Given the description of an element on the screen output the (x, y) to click on. 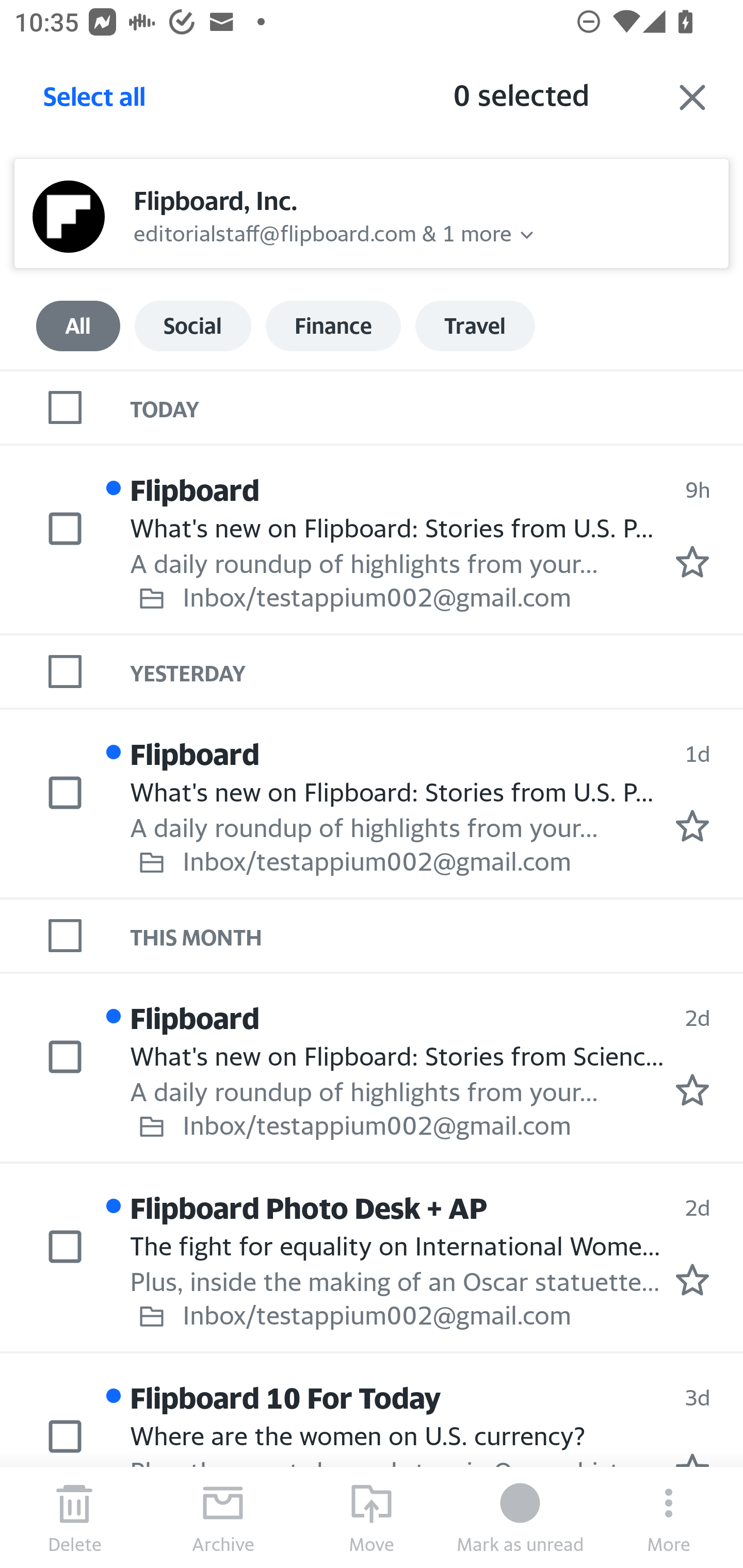
Exit selection mode (692, 97)
Select all (94, 101)
editorialstaff@flipboard.com & 1 more (322, 231)
All (78, 326)
Social (192, 326)
Finance (333, 326)
Travel (474, 326)
TODAY (436, 406)
Mark as starred. (692, 562)
YESTERDAY (436, 671)
Mark as starred. (692, 825)
THIS MONTH (436, 935)
Mark as starred. (692, 1090)
Mark as starred. (692, 1280)
Delete (74, 1517)
Archive (222, 1517)
Move (371, 1517)
Mark as unread (519, 1517)
More (668, 1517)
